Given the description of an element on the screen output the (x, y) to click on. 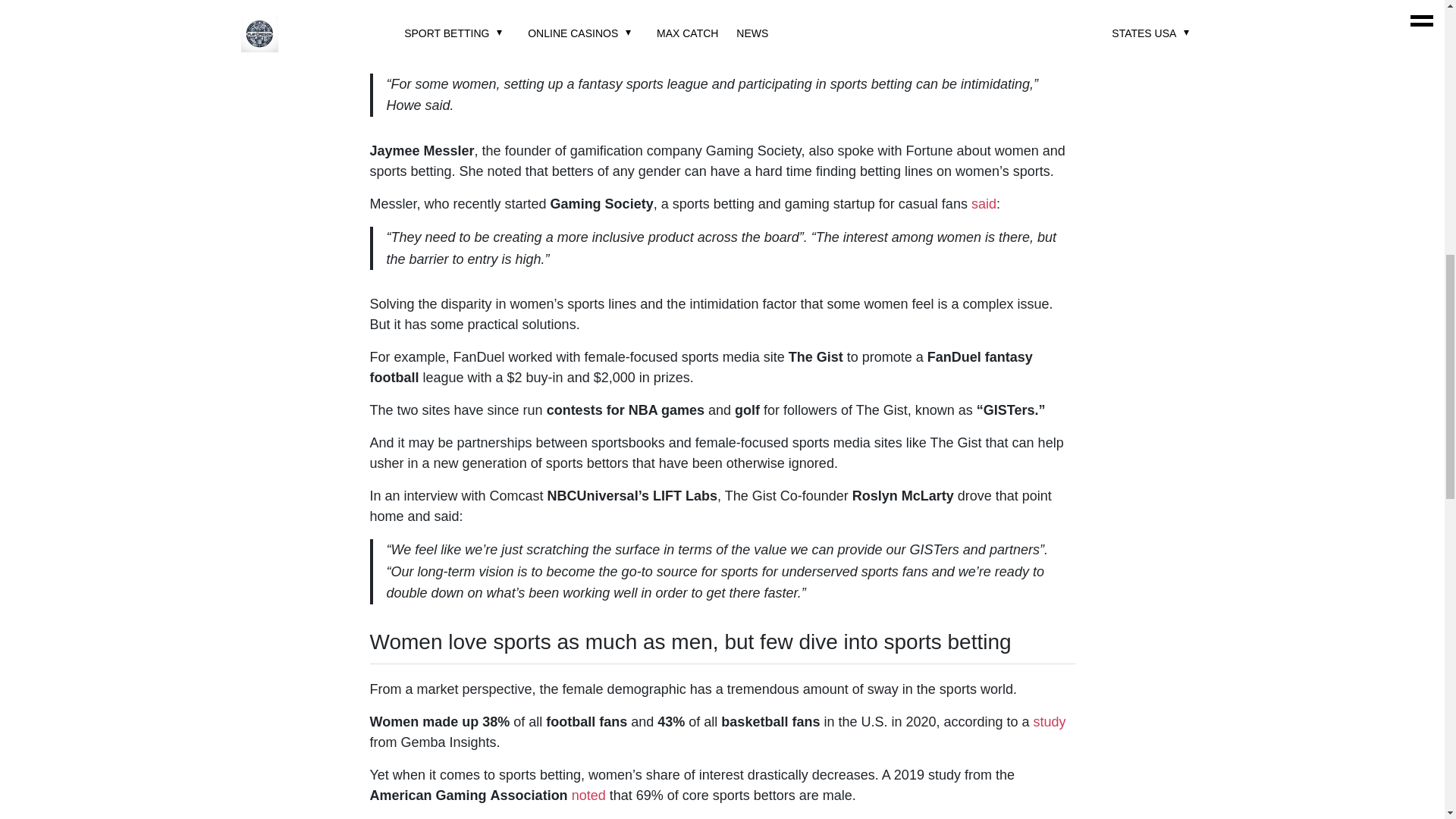
study (1049, 721)
noted (588, 795)
said (983, 203)
